Given the description of an element on the screen output the (x, y) to click on. 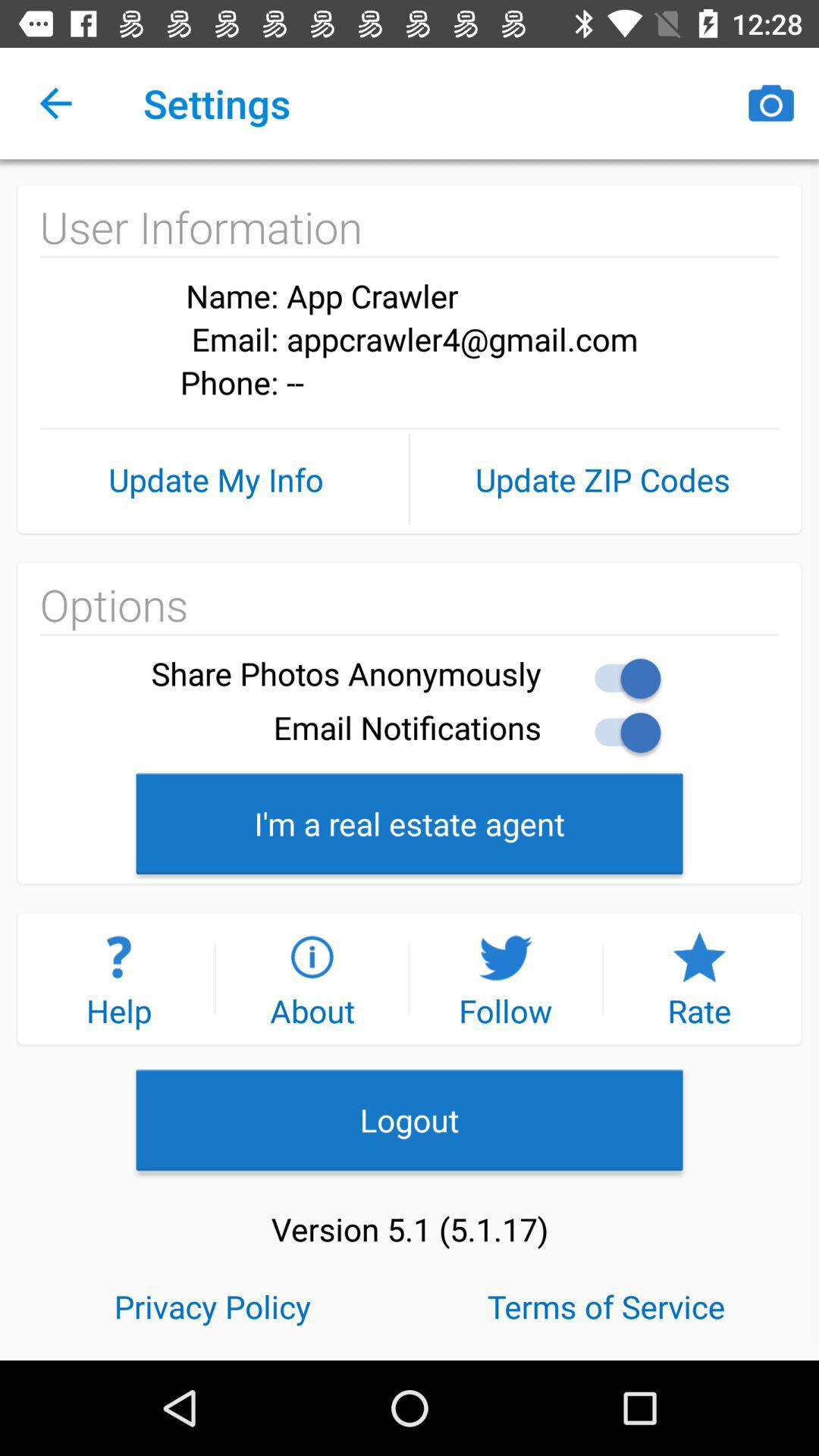
flip until help icon (118, 978)
